Given the description of an element on the screen output the (x, y) to click on. 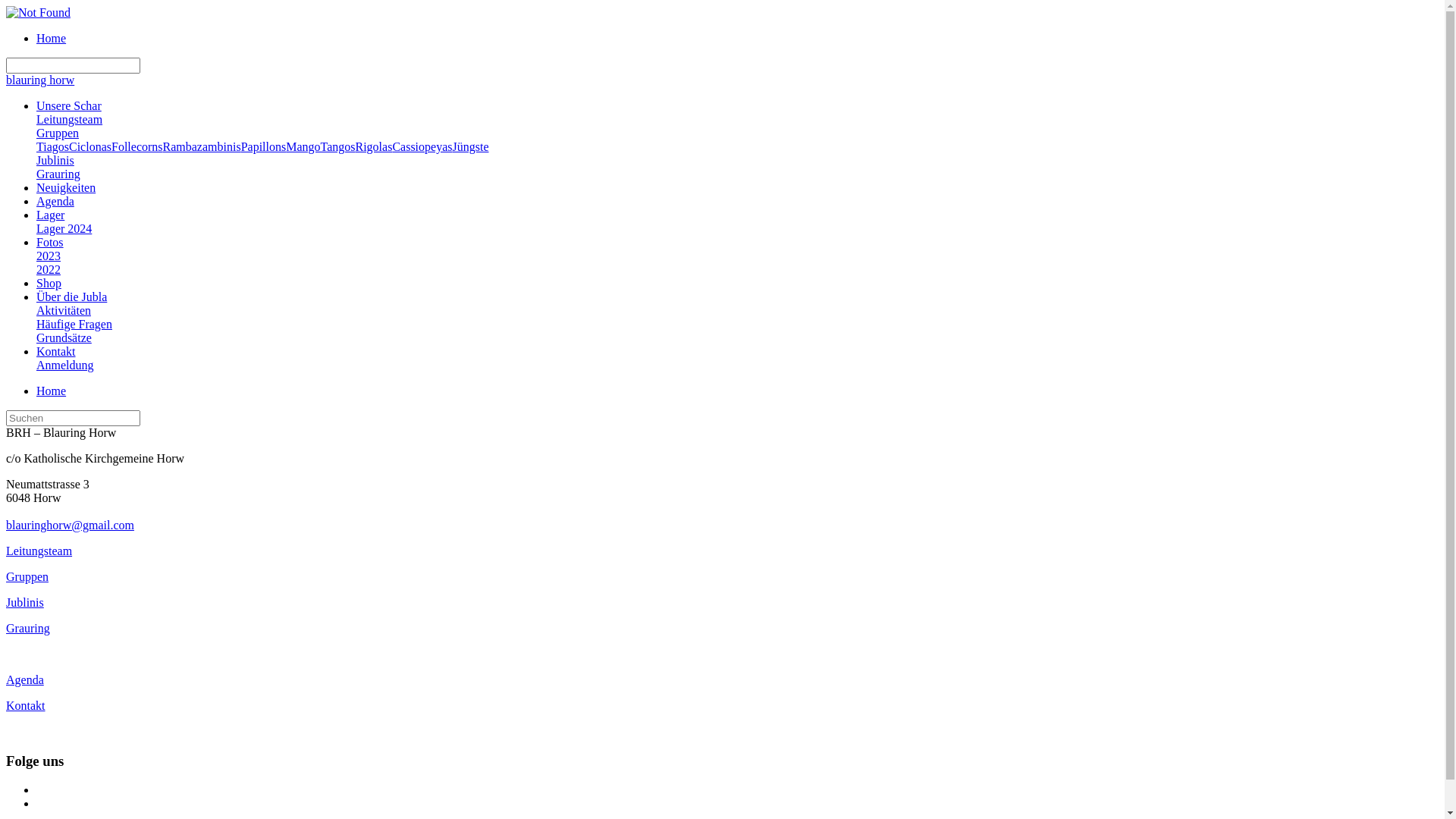
Fotos Element type: text (49, 241)
Papillons Element type: text (263, 146)
Anmeldung Element type: text (65, 364)
Home Element type: text (50, 37)
Leitungsteam Element type: text (69, 118)
Shop Element type: text (48, 282)
Lager 2024 Element type: text (63, 228)
blauring horw Element type: text (40, 79)
Home Element type: text (50, 390)
Ciclonas Element type: text (90, 146)
Unsere Schar Element type: text (68, 105)
Tiagos Element type: text (52, 146)
Grauring Element type: text (28, 627)
2023 Element type: text (48, 255)
Blauring Horw Element type: hover (38, 12)
MangoTangos Element type: text (319, 146)
2022 Element type: text (48, 269)
Neuigkeiten Element type: text (65, 187)
Jublinis Element type: text (55, 159)
Grauring Element type: text (58, 173)
Not Found Element type: hover (38, 12)
Agenda Element type: text (24, 679)
blauringhorw@gmail.com Element type: text (70, 524)
Kontakt Element type: text (55, 351)
Jublinis Element type: text (24, 602)
Cassiopeyas Element type: text (421, 146)
Lager Element type: text (50, 214)
Agenda Element type: text (55, 200)
Follecorns Element type: text (137, 146)
Kontakt Element type: text (25, 705)
Leitungsteam Element type: text (39, 550)
Rambazambinis Element type: text (202, 146)
Rigolas Element type: text (373, 146)
Gruppen Element type: text (27, 576)
Gruppen Element type: text (57, 132)
